Given the description of an element on the screen output the (x, y) to click on. 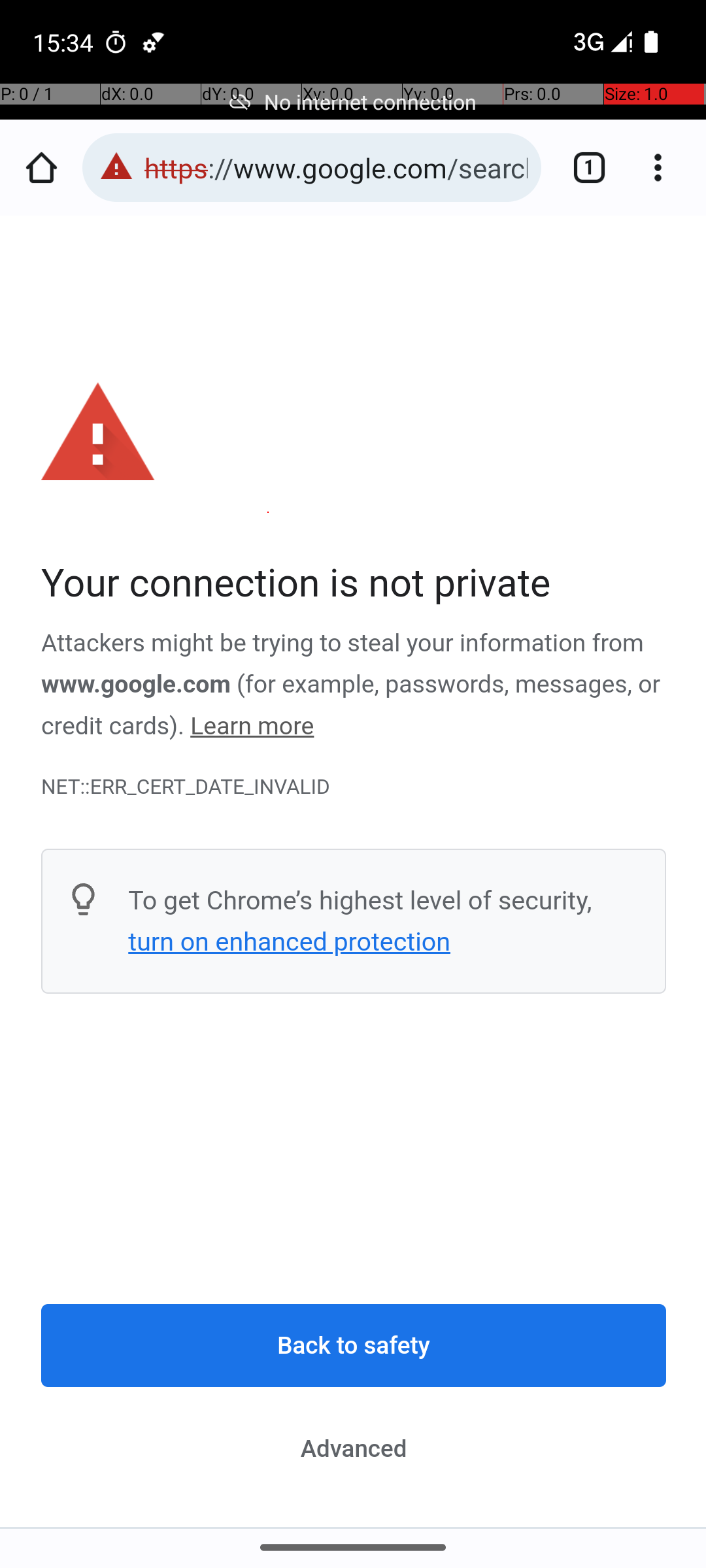
https://www.google.com/search?q=best+coffee+shops+near+me&oq=best+coffee+shops+near+me&aqs=chrome..69i57.817j0j7&client=ms-unknown&sourceid=chrome-mobile&ie=UTF-8 Element type: android.widget.EditText (335, 167)
www.google.com Element type: android.widget.TextView (136, 684)
Android System notification: Wi‑Fi will turn on automatically Element type: android.widget.ImageView (153, 41)
